Given the description of an element on the screen output the (x, y) to click on. 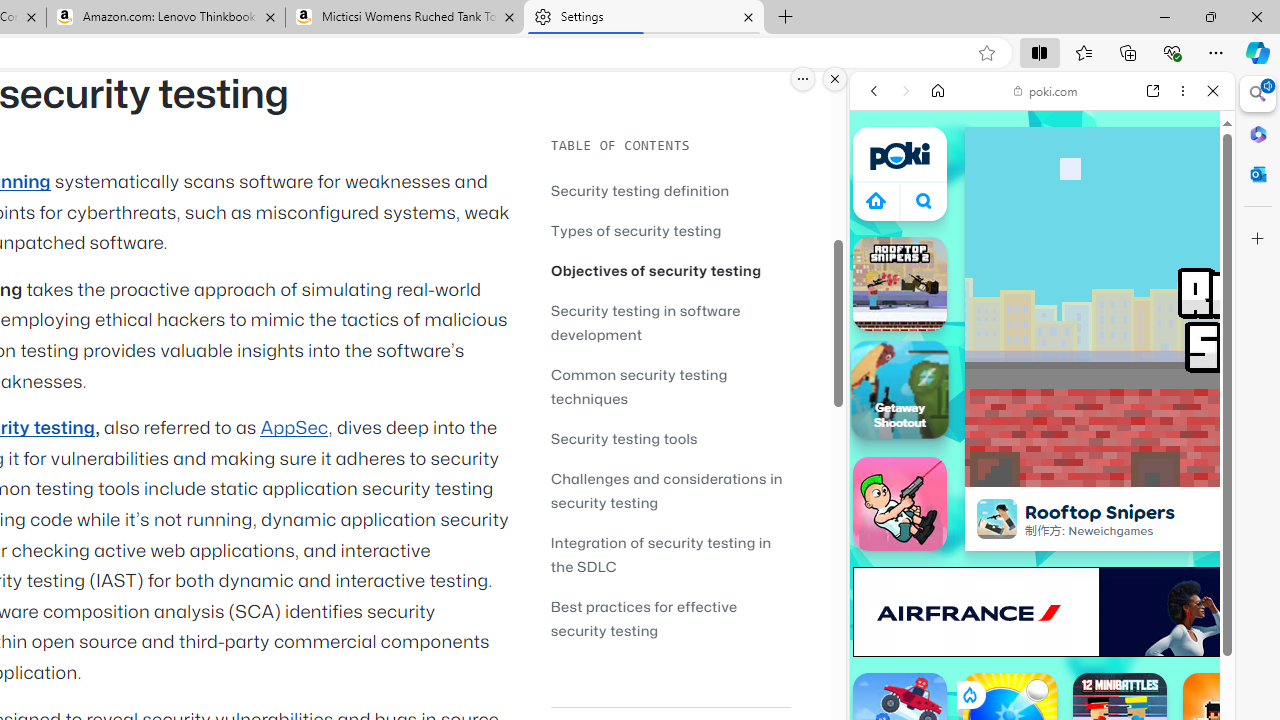
Challenges and considerations in security testing (670, 489)
Integration of security testing in the SDLC (660, 554)
Types of security testing (670, 230)
Objectives of security testing (670, 269)
Security testing tools (623, 438)
Close split screen. (835, 79)
Two Player Games (1042, 568)
Rooftop Snipers 2 Rooftop Snipers 2 (899, 283)
Security testing in software development (645, 321)
Bullet Bros Bullet Bros (899, 503)
